Given the description of an element on the screen output the (x, y) to click on. 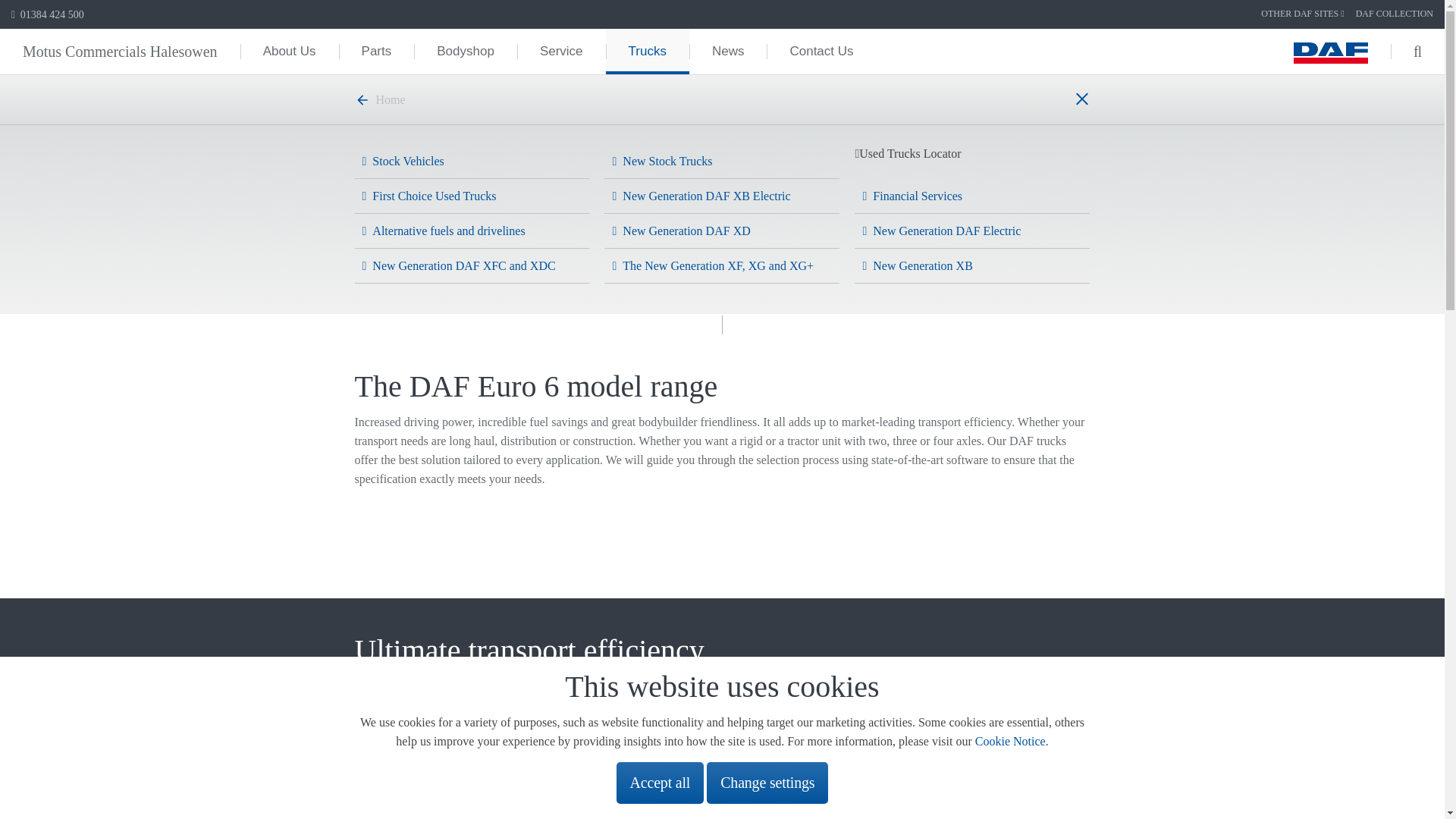
DAF COLLECTION (1393, 13)
01384 424 500 (47, 14)
arrow-back (362, 99)
